Given the description of an element on the screen output the (x, y) to click on. 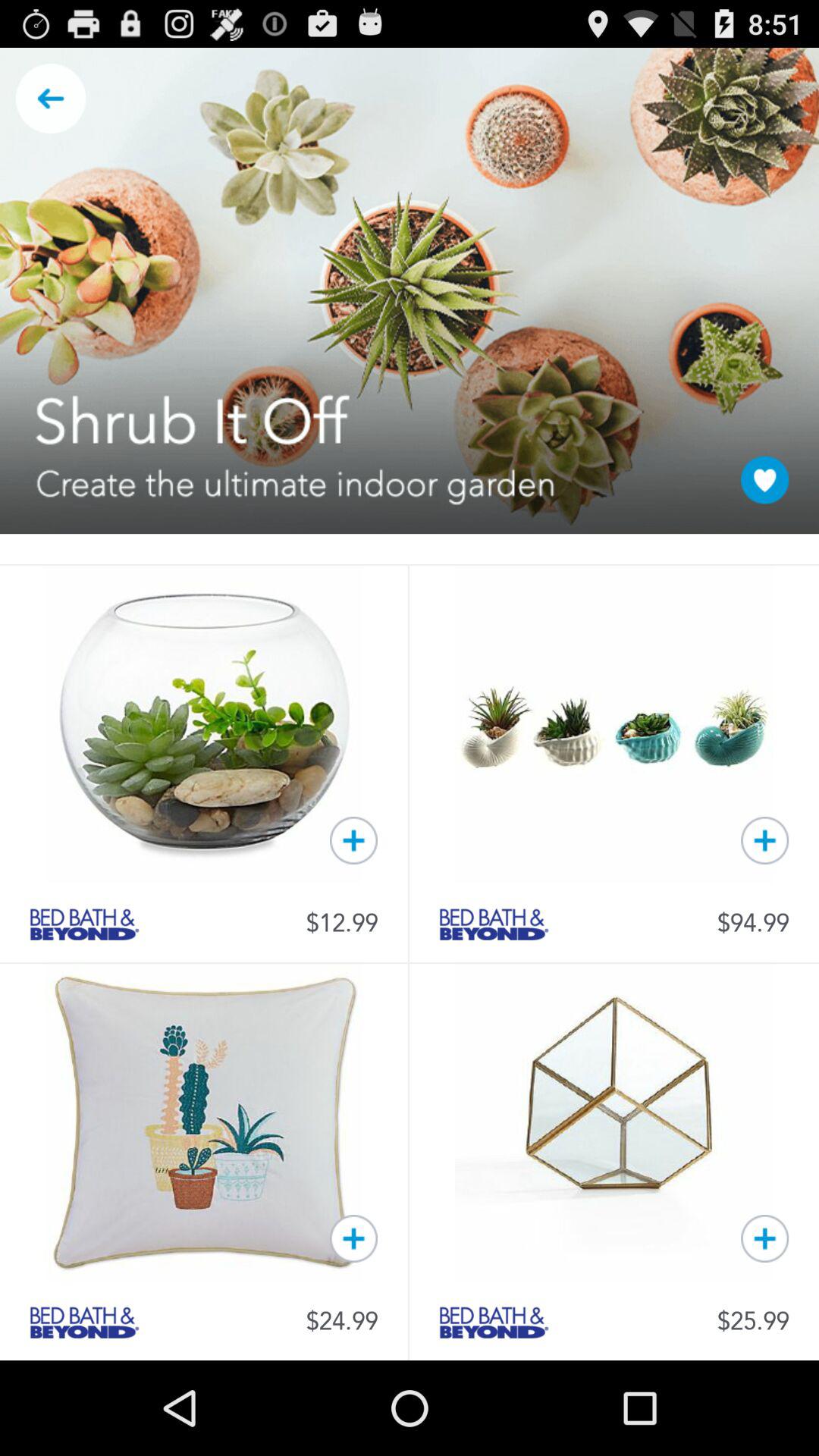
add to kart (353, 840)
